Given the description of an element on the screen output the (x, y) to click on. 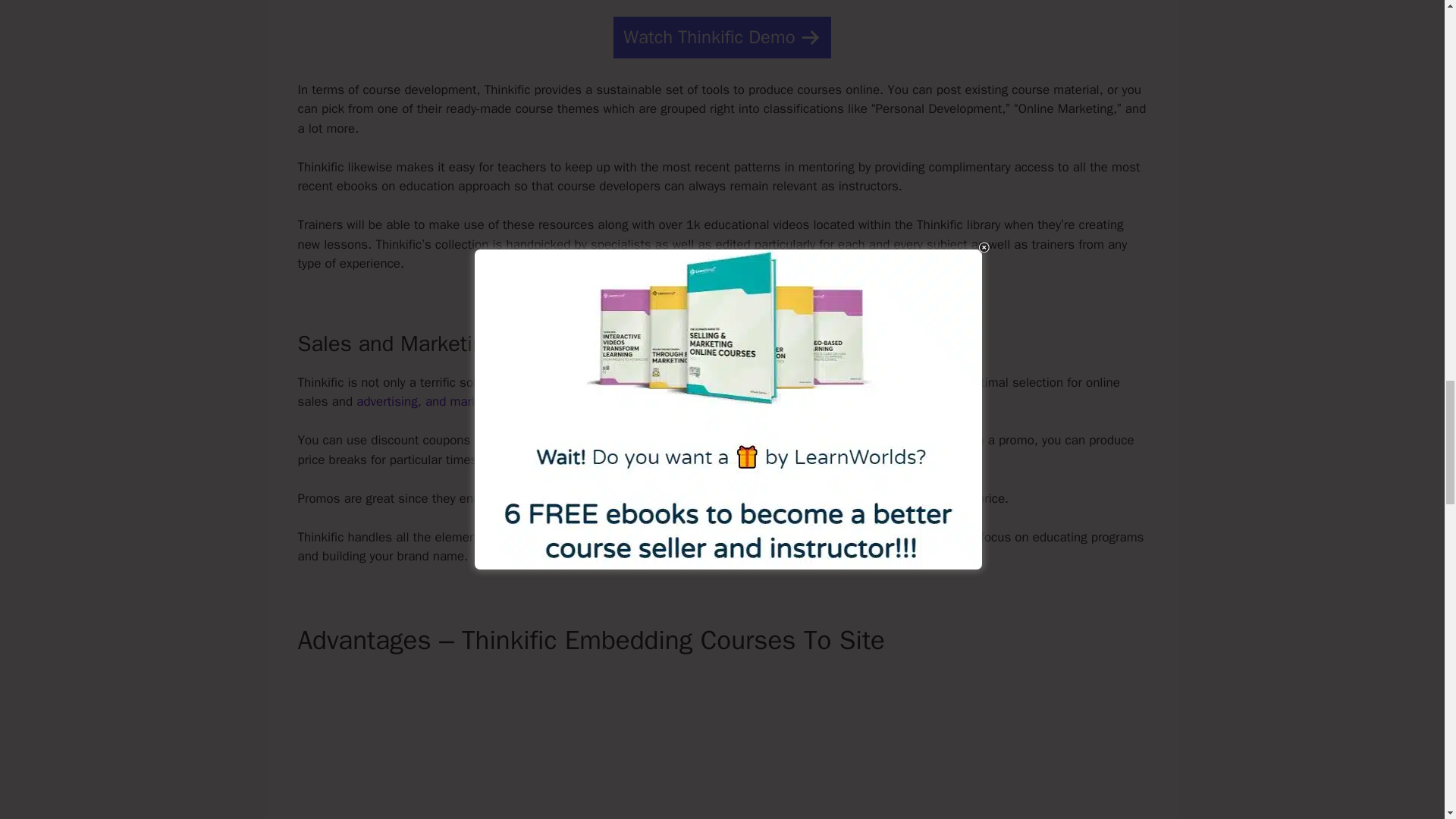
advertising, and marketing (430, 401)
Watch Thinkific Demo (720, 37)
